Given the description of an element on the screen output the (x, y) to click on. 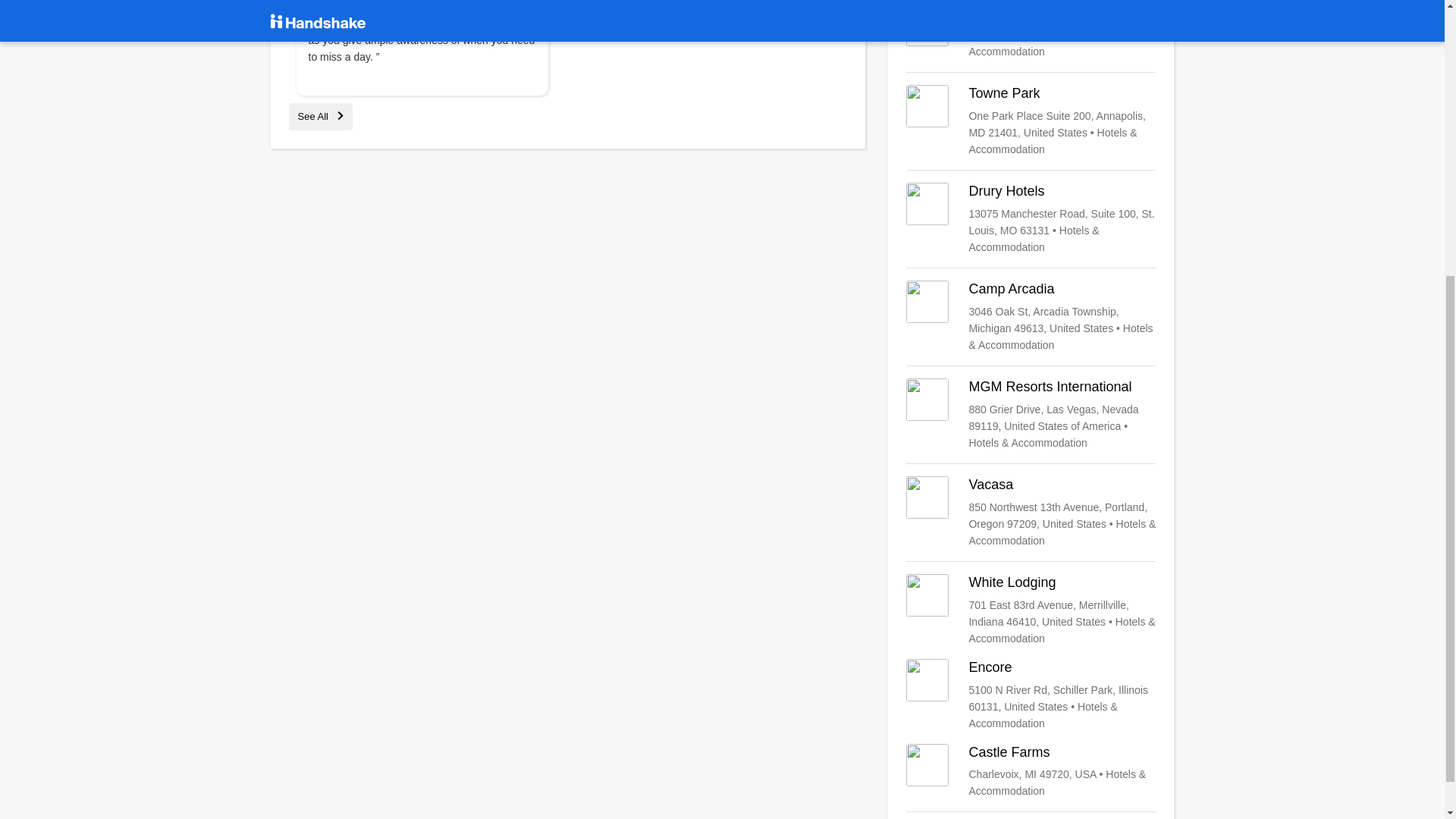
Towne Park (1030, 121)
Castle Farms (1030, 771)
Drury Hotels (1030, 218)
Vacasa (1030, 511)
Encore (1030, 695)
See All (320, 116)
MGM Resorts International (1030, 414)
TownePlace Suites by Marriott (1030, 31)
Camp Arcadia (1030, 316)
White Lodging (1030, 610)
